Given the description of an element on the screen output the (x, y) to click on. 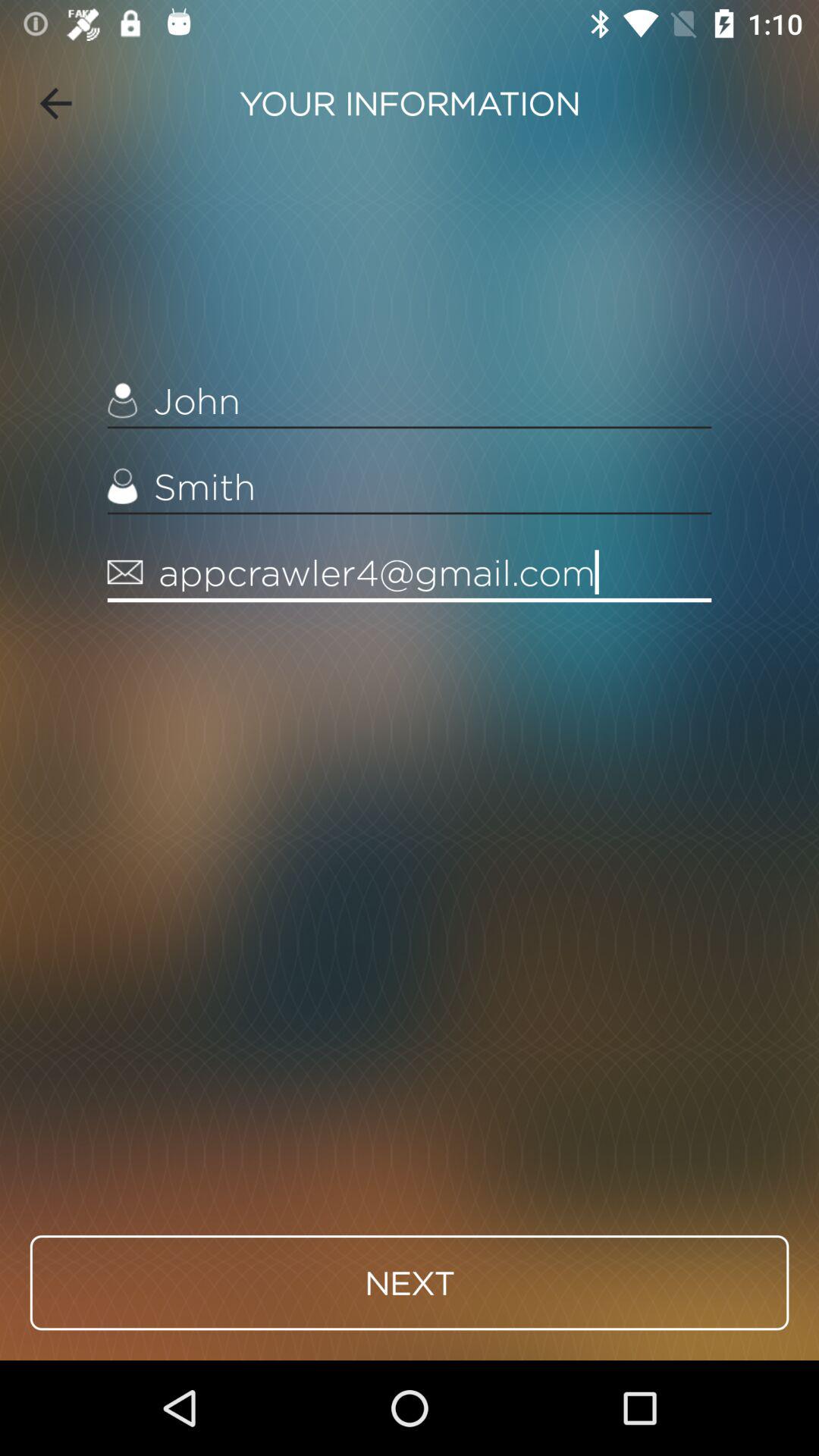
open the icon above the appcrawler4@gmail.com (409, 487)
